Given the description of an element on the screen output the (x, y) to click on. 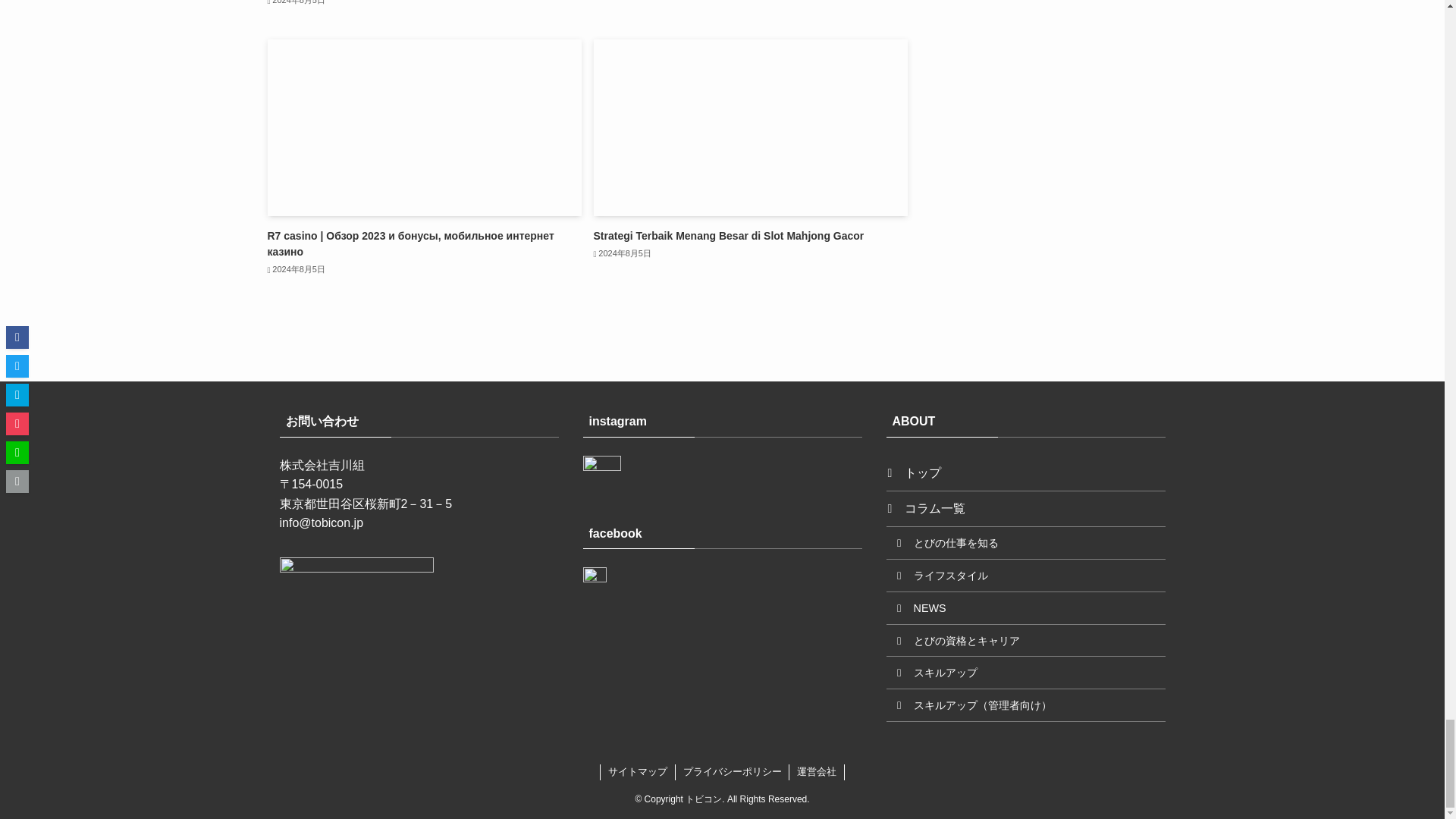
instagram (601, 474)
